Given the description of an element on the screen output the (x, y) to click on. 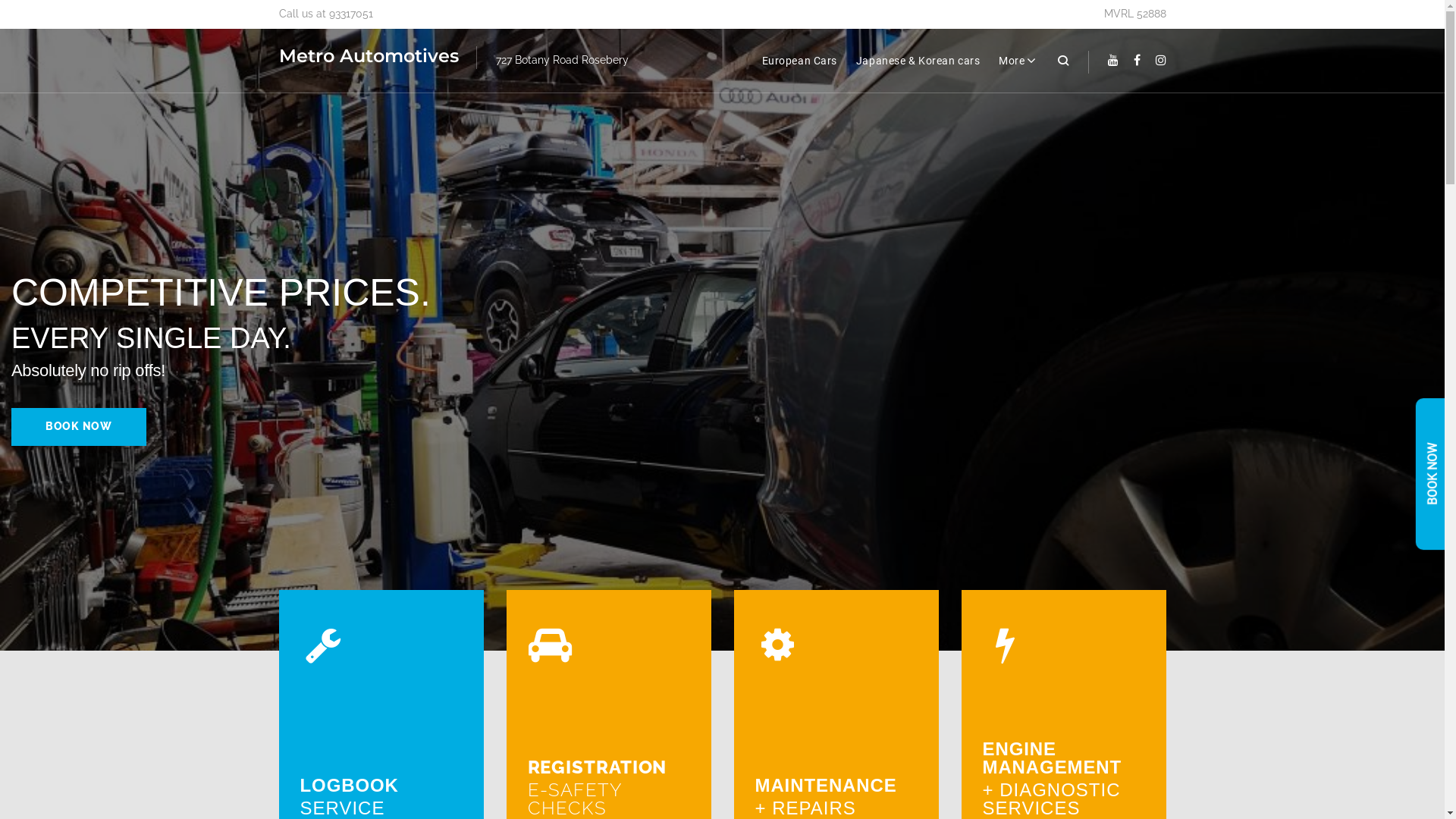
Japanese & Korean cars Element type: text (917, 60)
LEARN MORE Element type: text (416, 799)
Metro Automotives Element type: text (368, 55)
BOOK NOW Element type: text (82, 456)
LEARN MORE Element type: text (644, 793)
European Cars Element type: text (799, 60)
More Element type: text (1018, 60)
LEARN MORE Element type: text (871, 792)
